Given the description of an element on the screen output the (x, y) to click on. 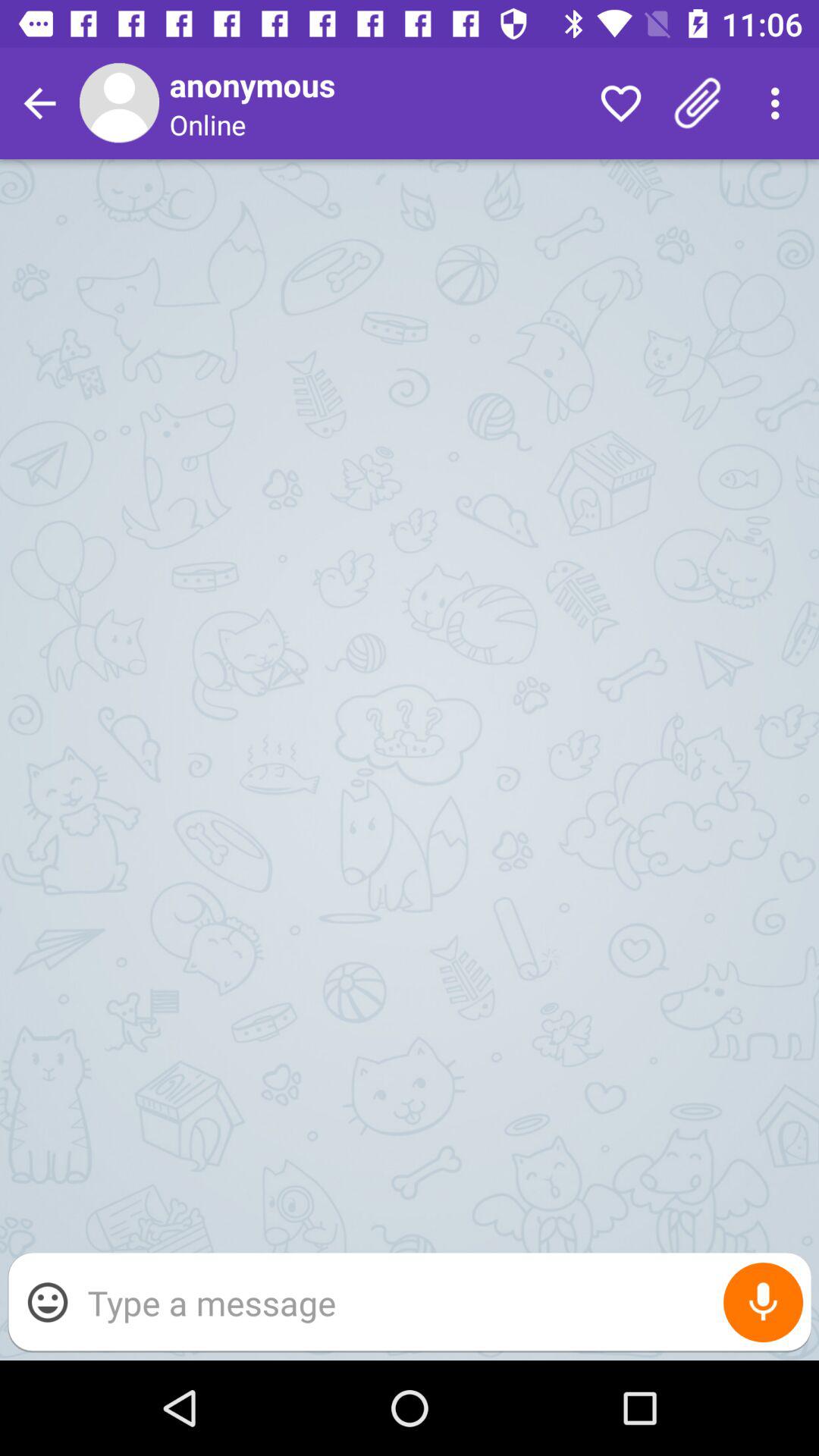
record message (763, 1302)
